Given the description of an element on the screen output the (x, y) to click on. 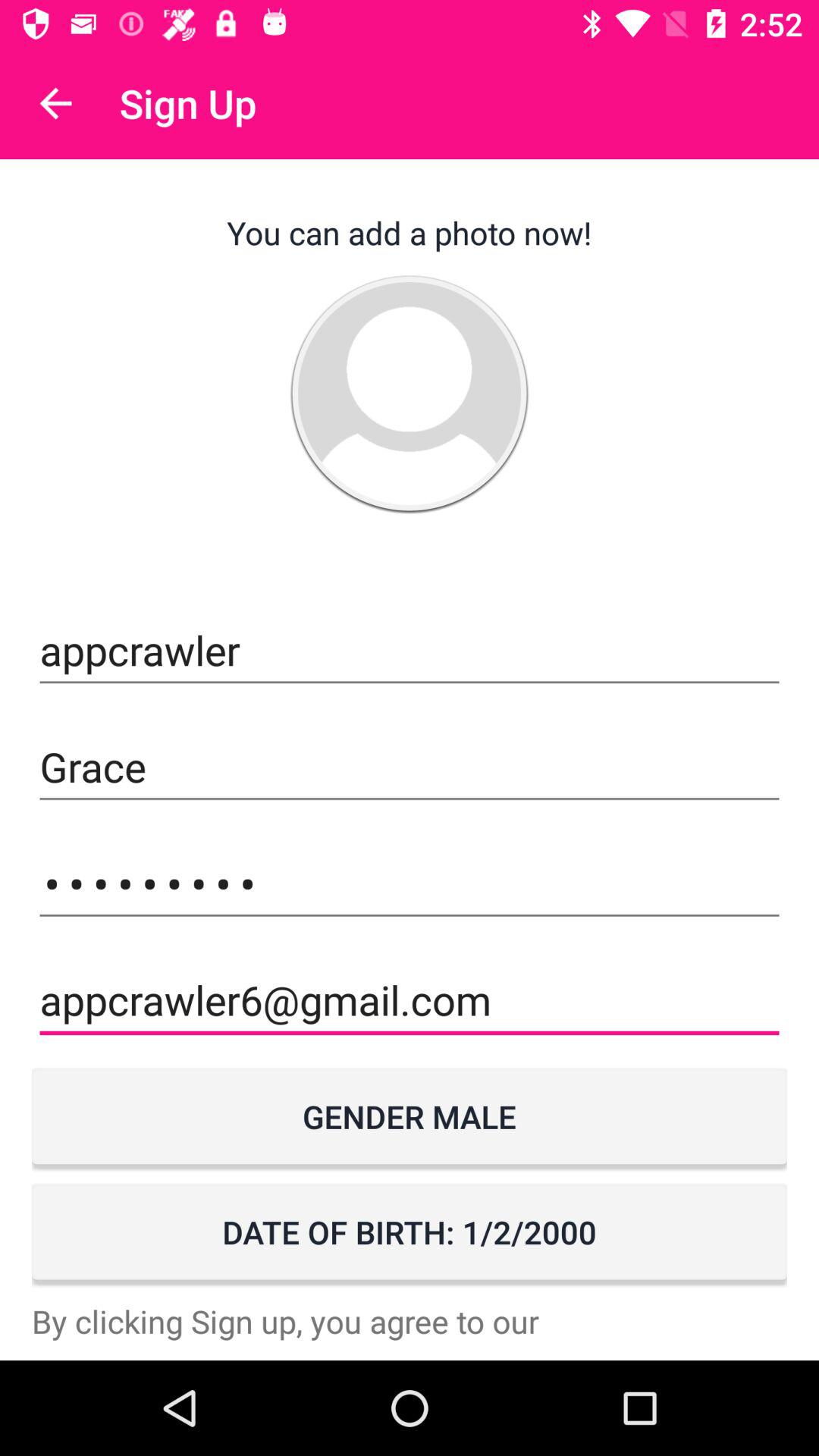
click on the second field (409, 767)
select the field above gender male (409, 1000)
click on text box below grace (409, 883)
select the first field of the page (409, 650)
click the button gender male on the web page (409, 1115)
